Given the description of an element on the screen output the (x, y) to click on. 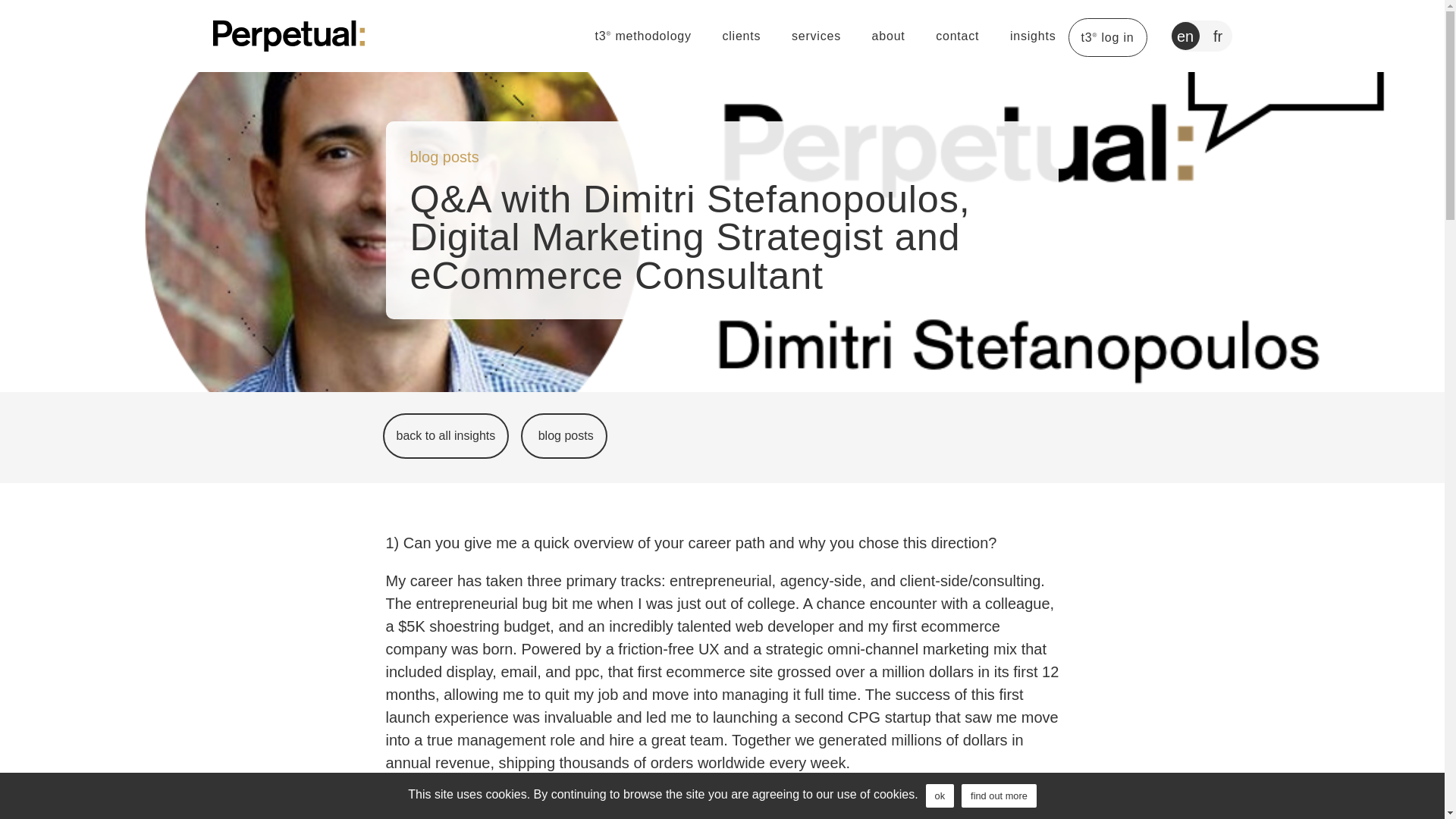
services (816, 35)
insights (1033, 35)
about (888, 35)
fr (1217, 35)
contact (957, 35)
en (1184, 35)
clients (741, 35)
